Given the description of an element on the screen output the (x, y) to click on. 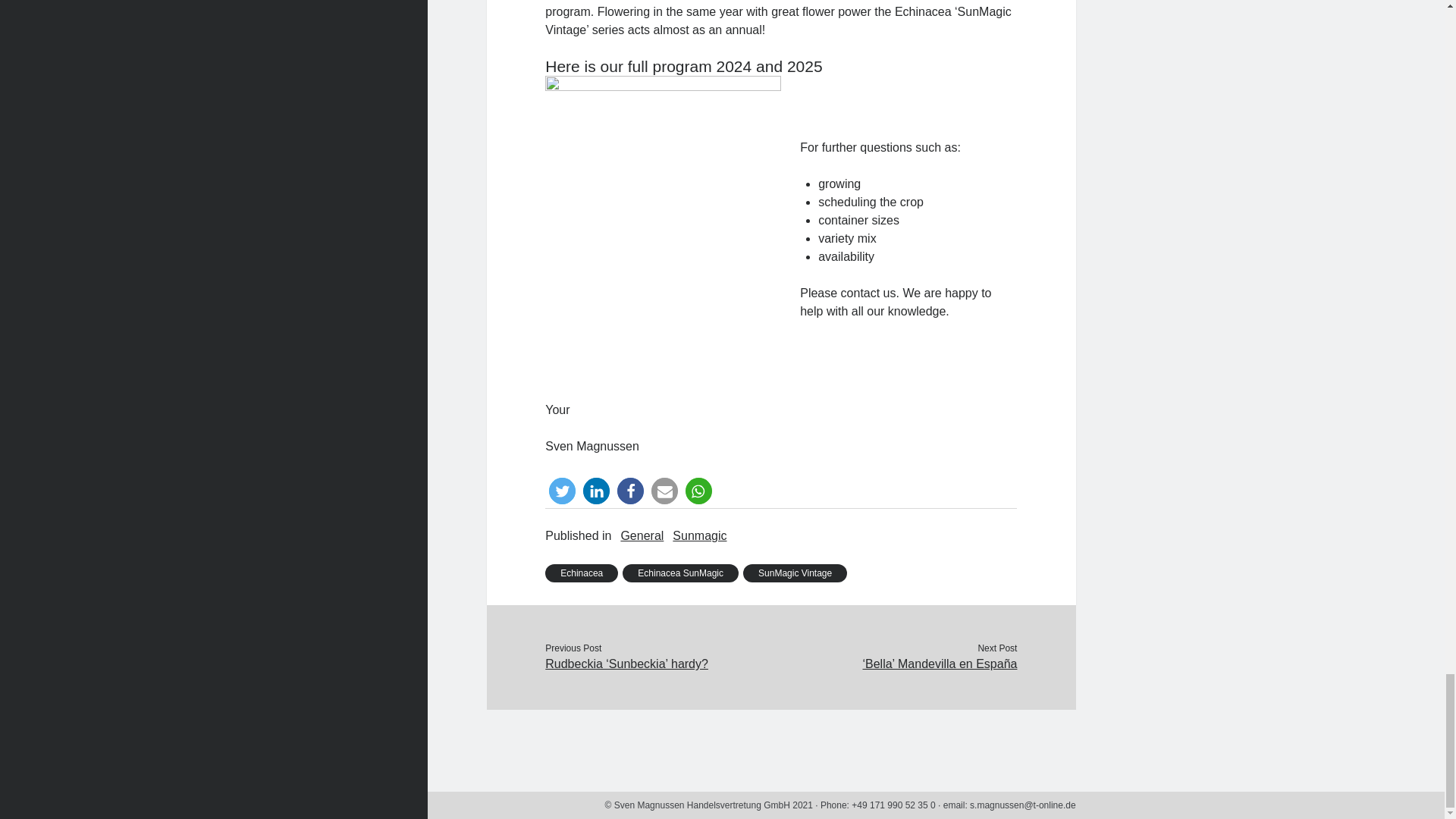
View all posts tagged Echinacea SunMagic (680, 573)
Bei Twitter teilen (561, 490)
View all posts in General (641, 536)
Per E-Mail versenden (664, 490)
View all posts tagged SunMagic Vintage (794, 573)
Bei Whatsapp teilen (698, 490)
View all posts in Sunmagic (699, 536)
View all posts tagged Echinacea (580, 573)
Bei Facebook teilen (630, 490)
Bei LinkedIn teilen (596, 490)
